Given the description of an element on the screen output the (x, y) to click on. 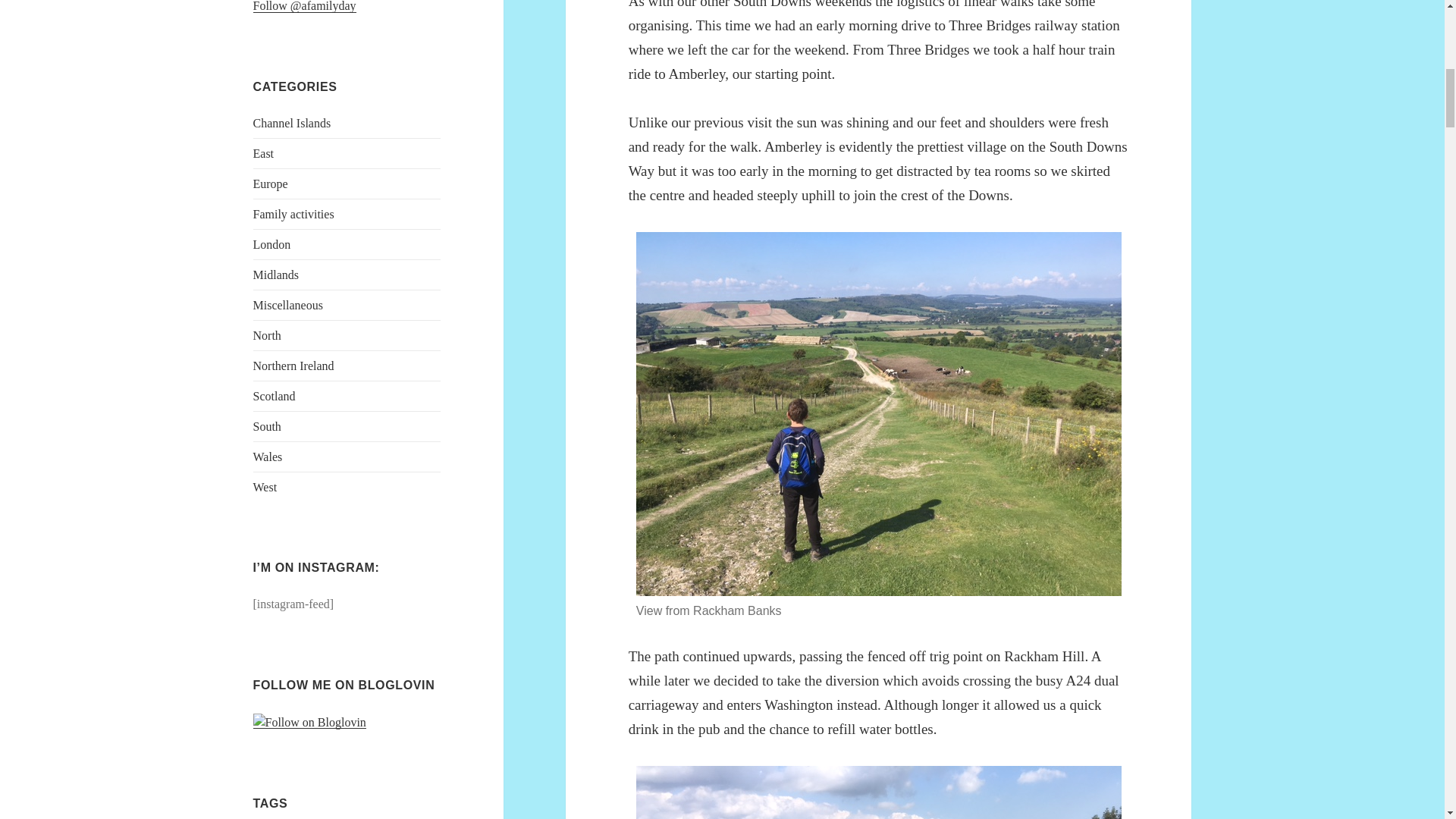
Follow A family day out on Bloglovin (309, 721)
Northern Ireland (293, 365)
Miscellaneous (288, 305)
South (267, 426)
East (264, 153)
Europe (270, 183)
Wales (267, 456)
London (272, 244)
West (265, 486)
Channel Islands (292, 123)
Family activities (293, 214)
Scotland (274, 395)
Midlands (275, 274)
North (267, 335)
